Given the description of an element on the screen output the (x, y) to click on. 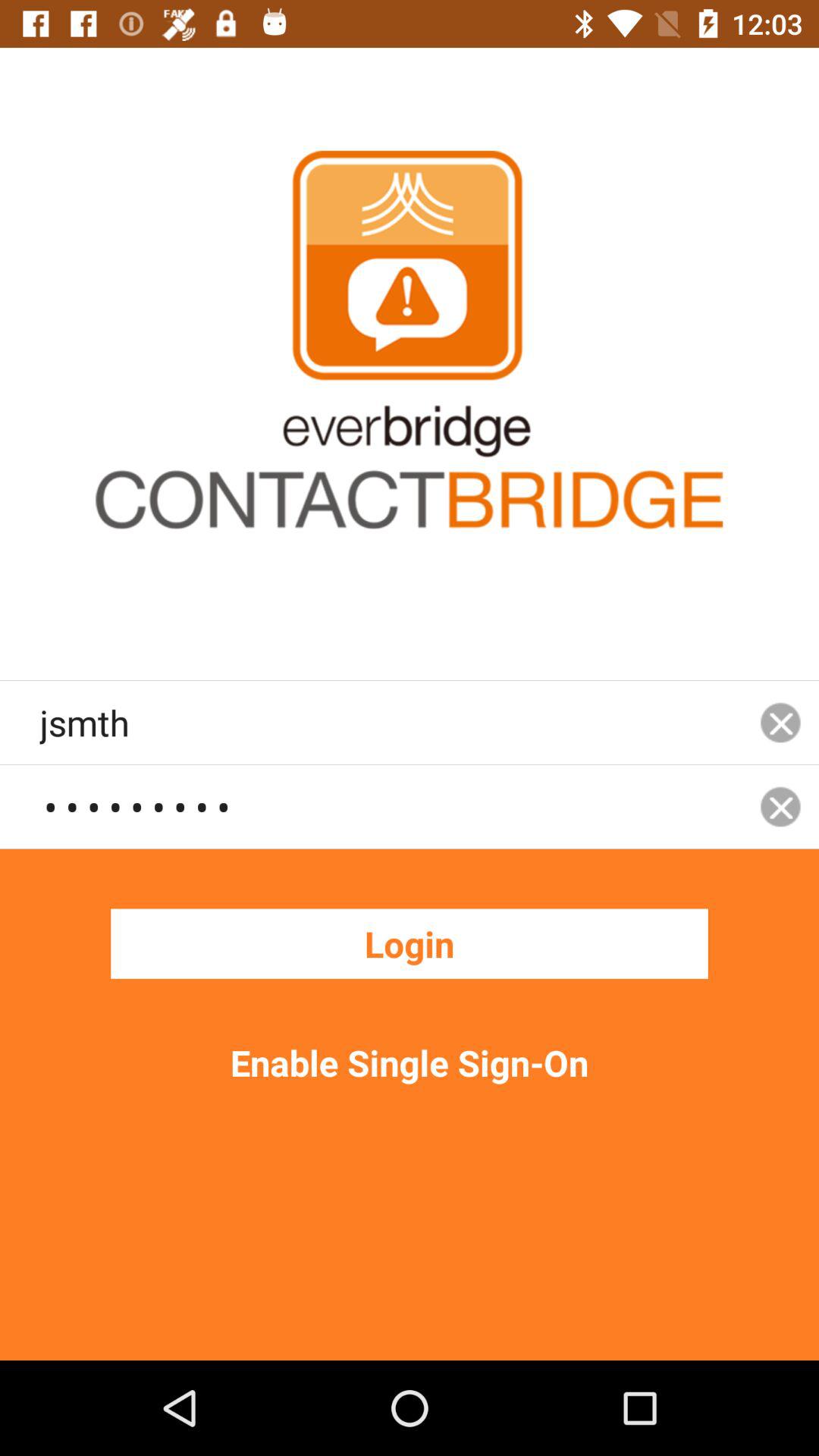
jump until the jsmth (390, 722)
